Given the description of an element on the screen output the (x, y) to click on. 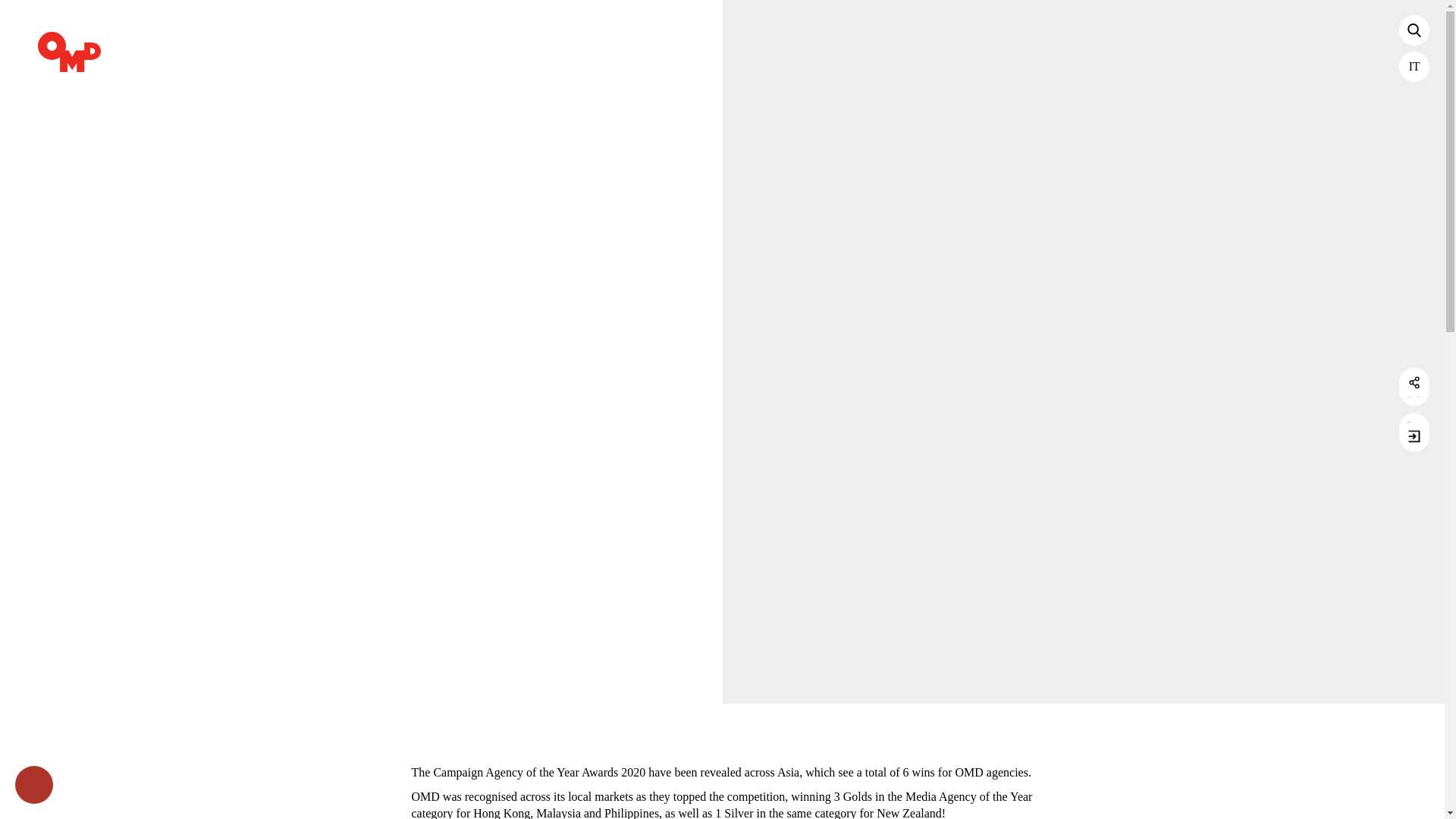
LinkedIn (1414, 428)
Instagram (1414, 390)
Open newsletter (1414, 436)
Facebook (1414, 386)
Open sharer options (1414, 381)
IT (1414, 66)
